Given the description of an element on the screen output the (x, y) to click on. 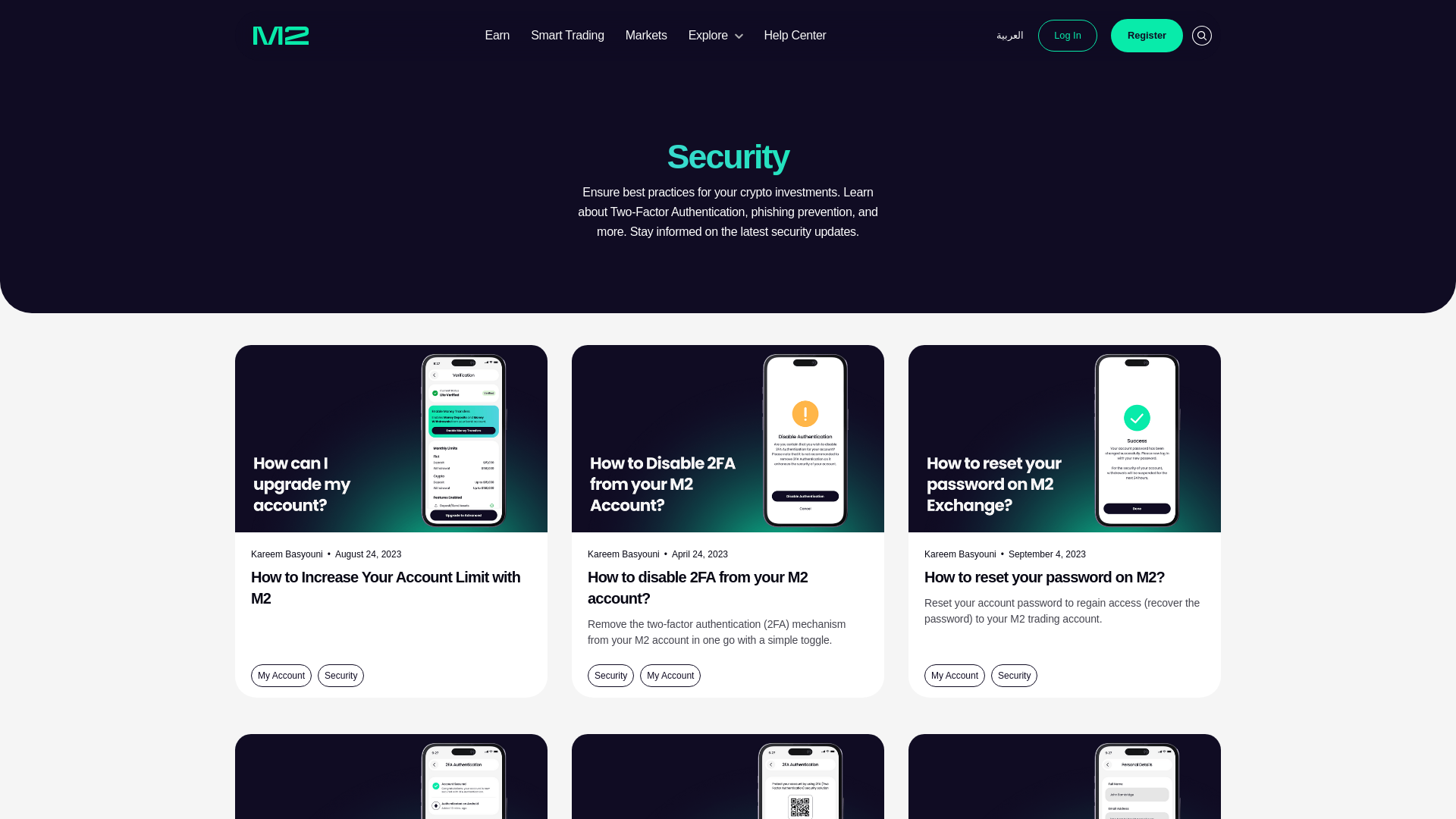
Help Center (795, 35)
Smart Trading (567, 35)
My Account (280, 675)
Earn (497, 35)
Register (1146, 35)
Log In (1067, 35)
Security (340, 675)
How to Increase Your Account Limit with M2 (390, 591)
Markets (646, 35)
Explore (715, 35)
